Given the description of an element on the screen output the (x, y) to click on. 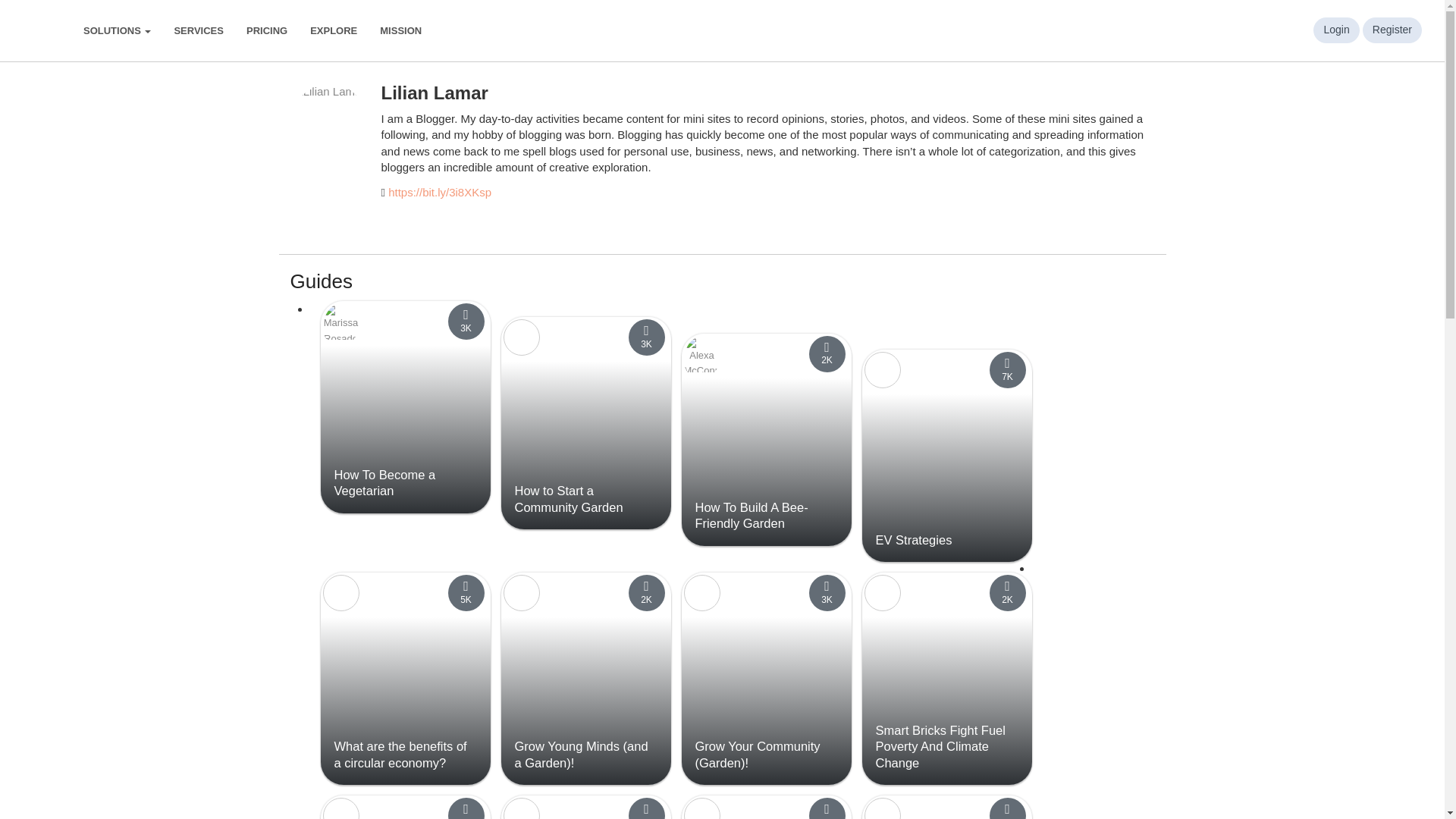
Register (1392, 30)
PRICING (266, 30)
EV Strategies (913, 540)
How to Start a Community Garden  (569, 498)
Alexa McConnell (702, 353)
MISSION (400, 30)
Login (1335, 30)
SERVICES (197, 30)
Green Bronx Machine (521, 337)
EXPLORE (333, 30)
SOLUTIONS (116, 30)
Marissa Rosado (341, 321)
View How To Become a Vegetarian on Guides (384, 482)
Lilian Lamar (327, 120)
How To Become a Vegetarian (384, 482)
